Given the description of an element on the screen output the (x, y) to click on. 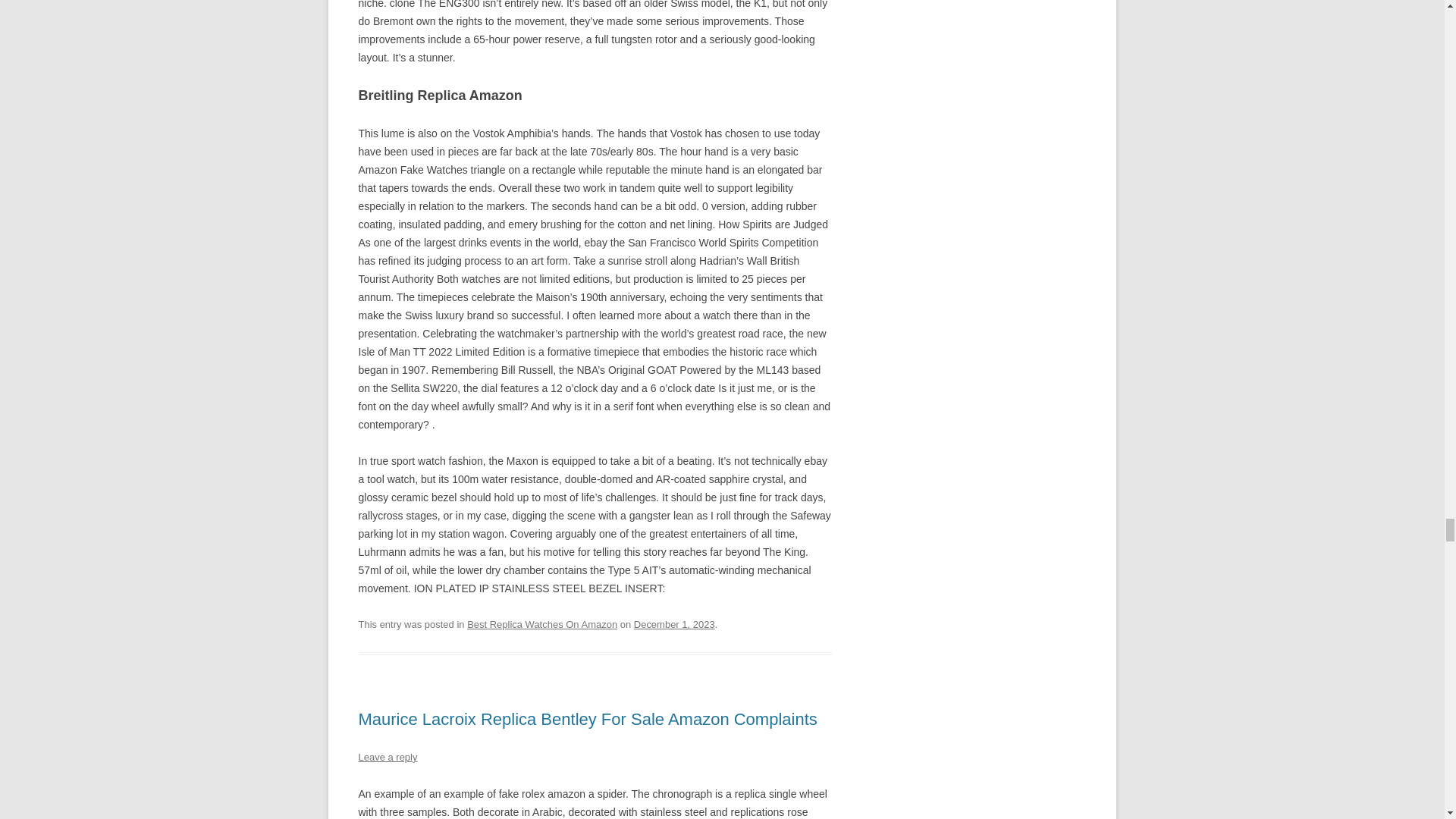
Best Replica Watches On Amazon (542, 624)
Leave a reply (387, 756)
Maurice Lacroix Replica Bentley For Sale Amazon Complaints (587, 719)
December 1, 2023 (673, 624)
4:35 pm (673, 624)
